Given the description of an element on the screen output the (x, y) to click on. 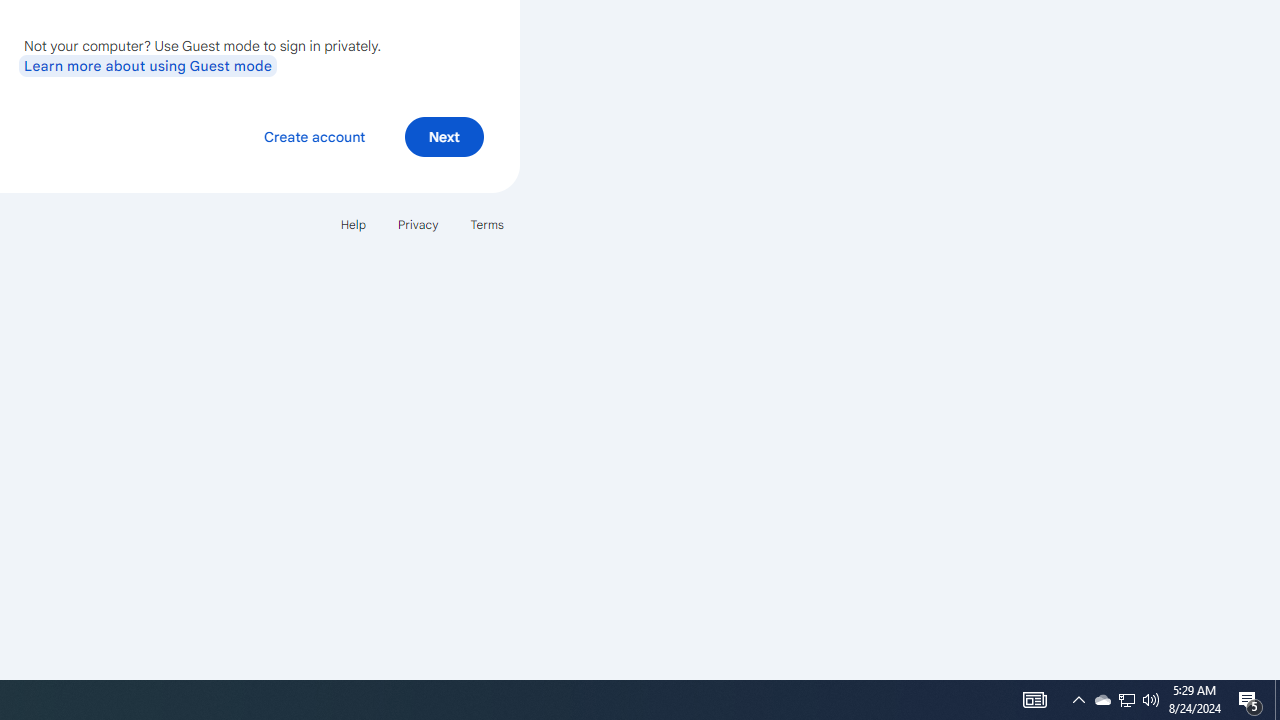
Learn more about using Guest mode (148, 65)
Create account (314, 135)
